Given the description of an element on the screen output the (x, y) to click on. 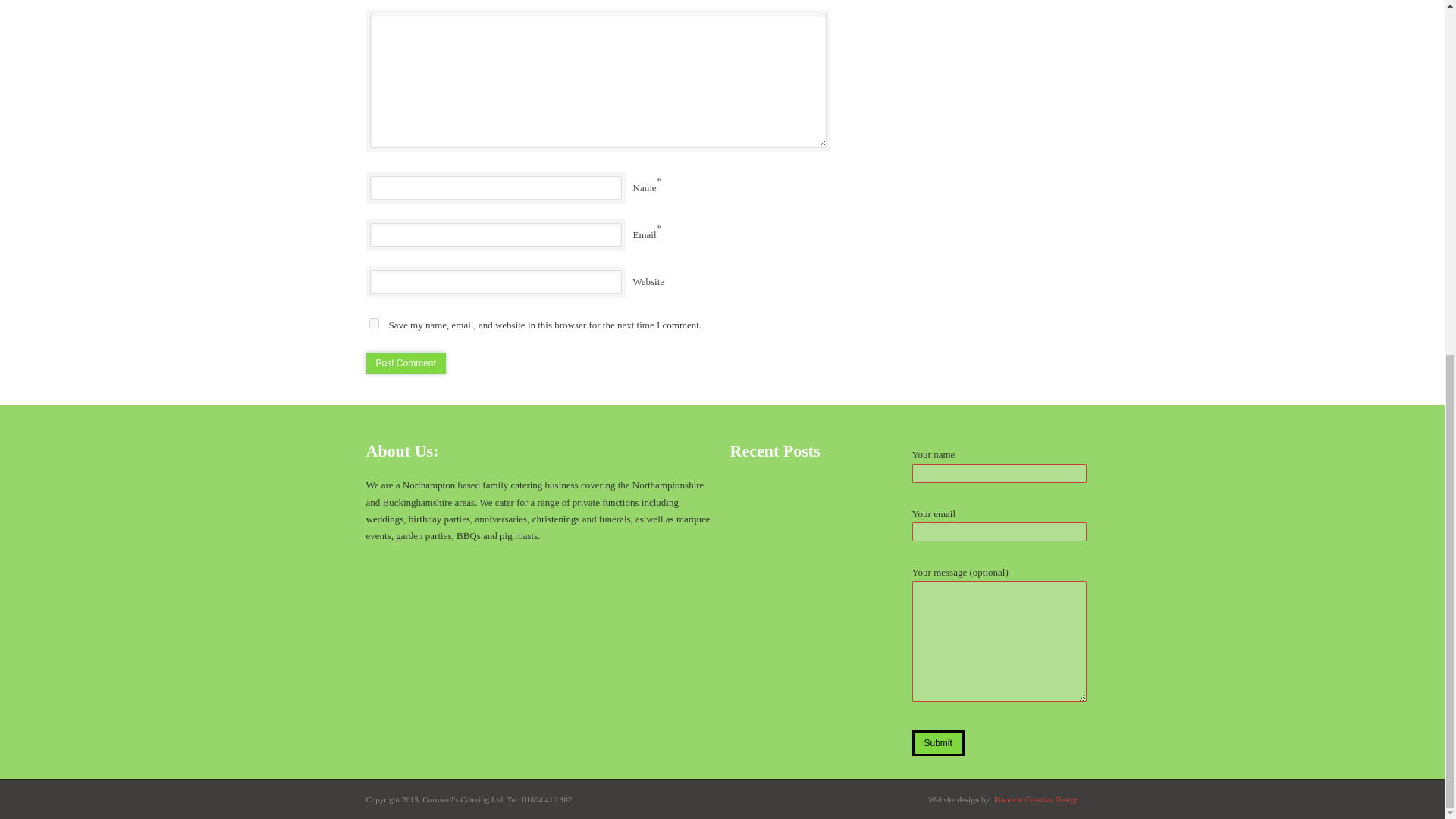
Submit (937, 742)
yes (373, 323)
Submit (937, 742)
Post Comment (405, 362)
Post Comment (405, 362)
